Given the description of an element on the screen output the (x, y) to click on. 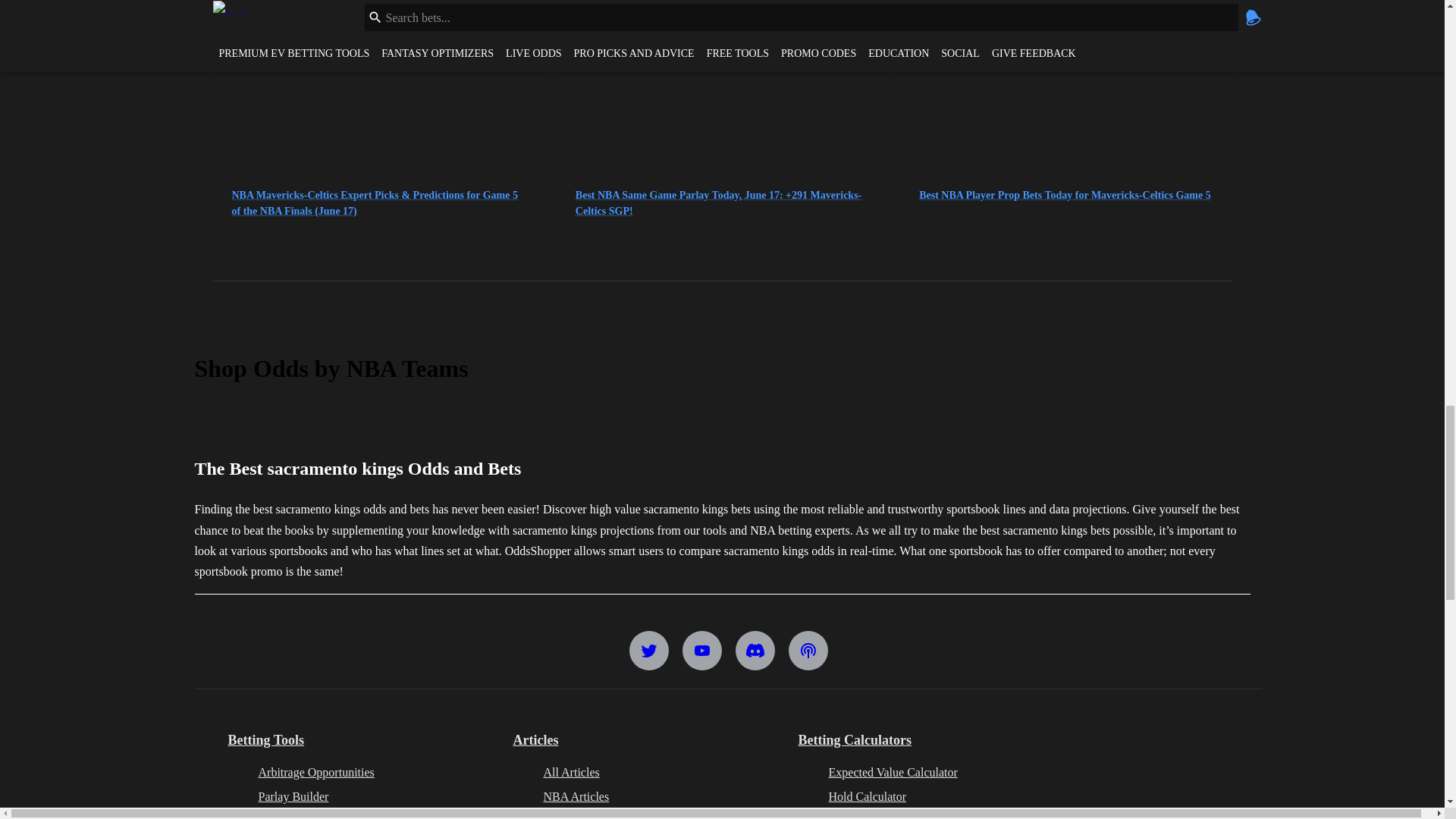
Best NBA Player Prop Bets Today for Mavericks-Celtics Game 5 (1065, 107)
